Given the description of an element on the screen output the (x, y) to click on. 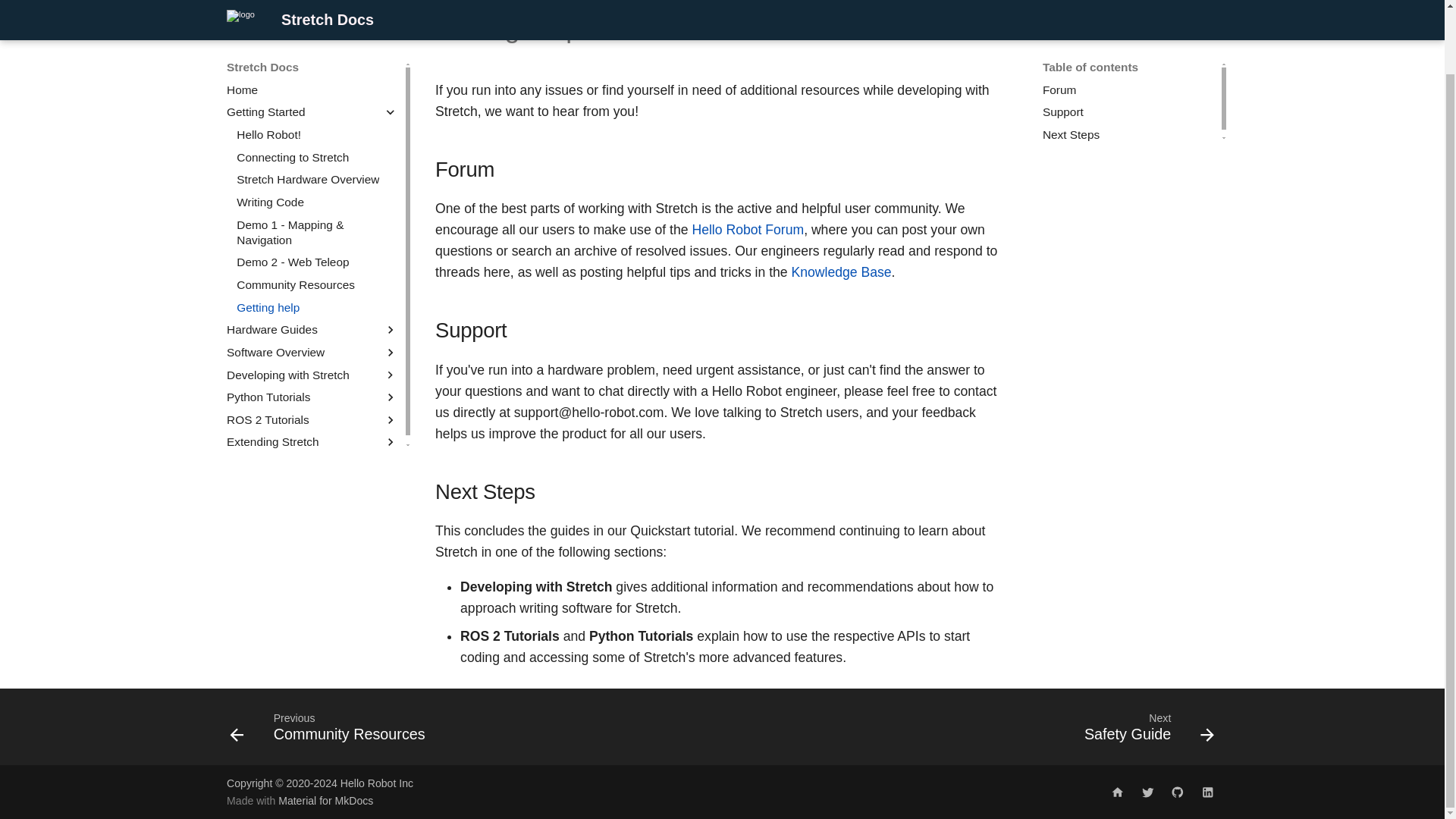
Hello Robot! (316, 89)
linkedin.com (1207, 791)
Home (312, 44)
hello-robot.com (1117, 791)
github.com (1177, 791)
Demo 2 - Web Teleop (316, 216)
Stretch Hardware Overview (1129, 55)
Community Resources (316, 133)
Connecting to Stretch (316, 239)
